Given the description of an element on the screen output the (x, y) to click on. 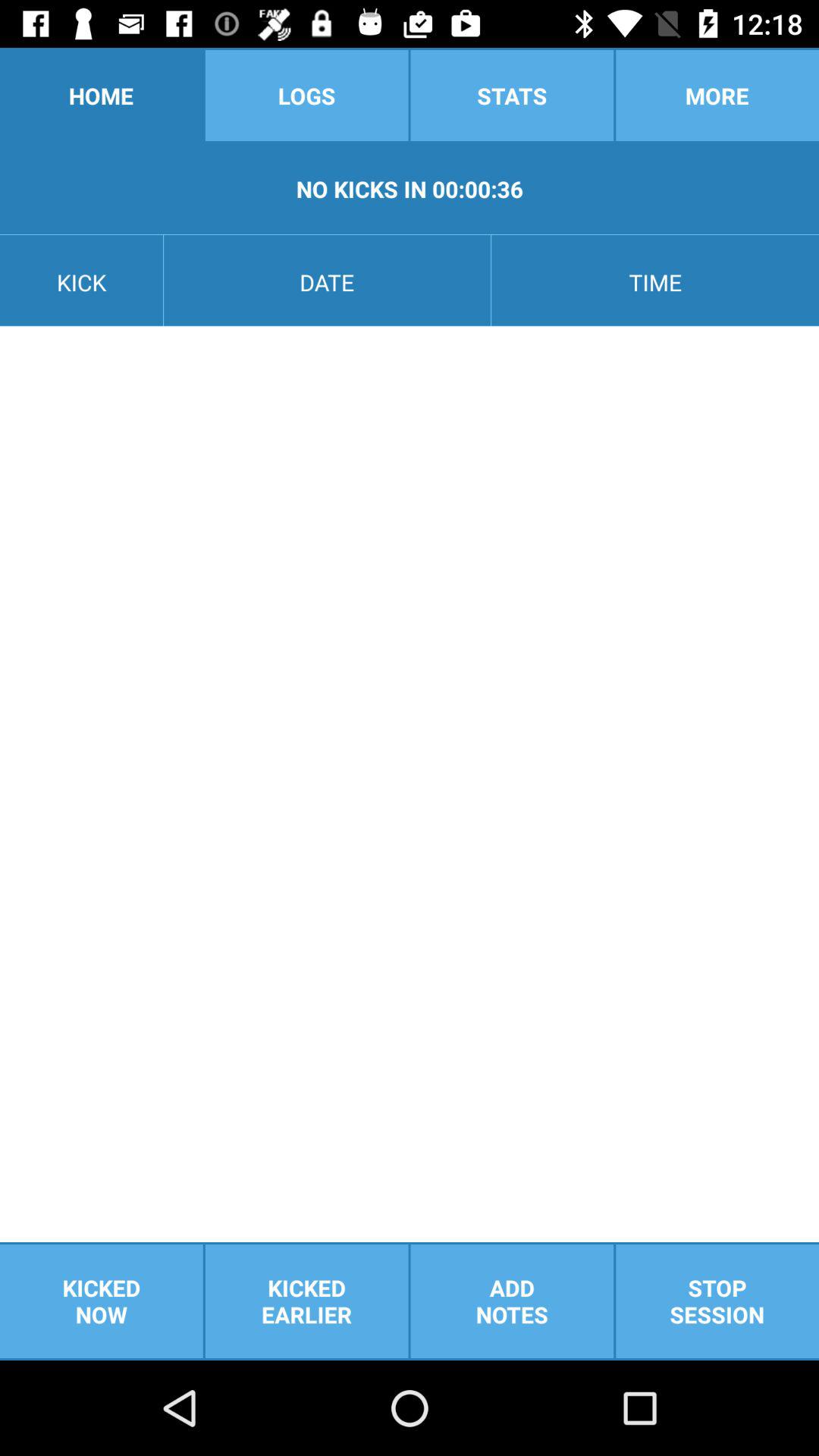
press the home (101, 95)
